Given the description of an element on the screen output the (x, y) to click on. 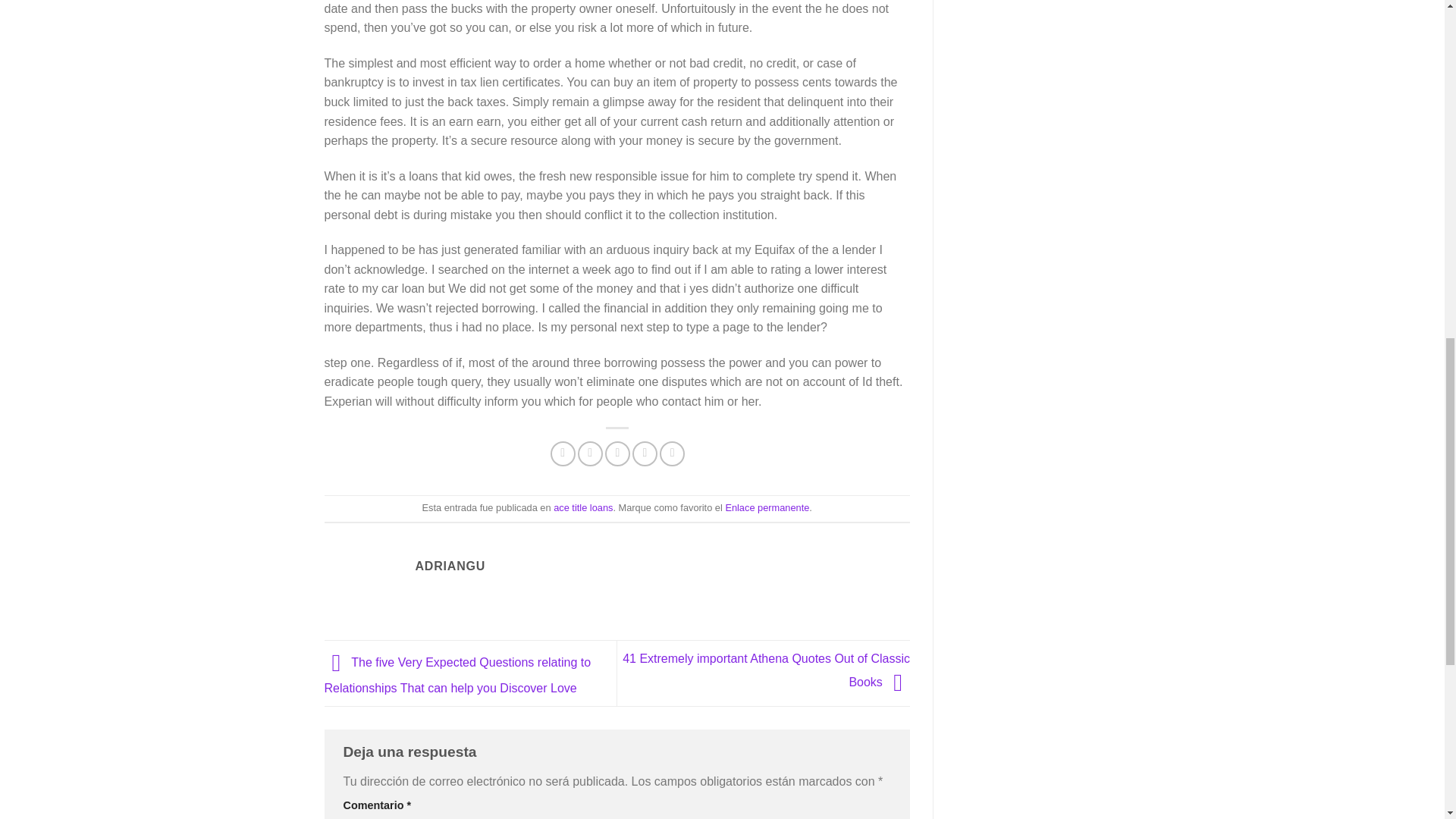
41 Extremely important Athena Quotes Out of Classic Books (766, 669)
Compartir en Twitter (590, 453)
ace title loans (582, 507)
Compartir en LinkedIn (671, 453)
Enlace permanente (767, 507)
Compartir en Facebook (562, 453)
Pinear en Pinterest (644, 453)
